Given the description of an element on the screen output the (x, y) to click on. 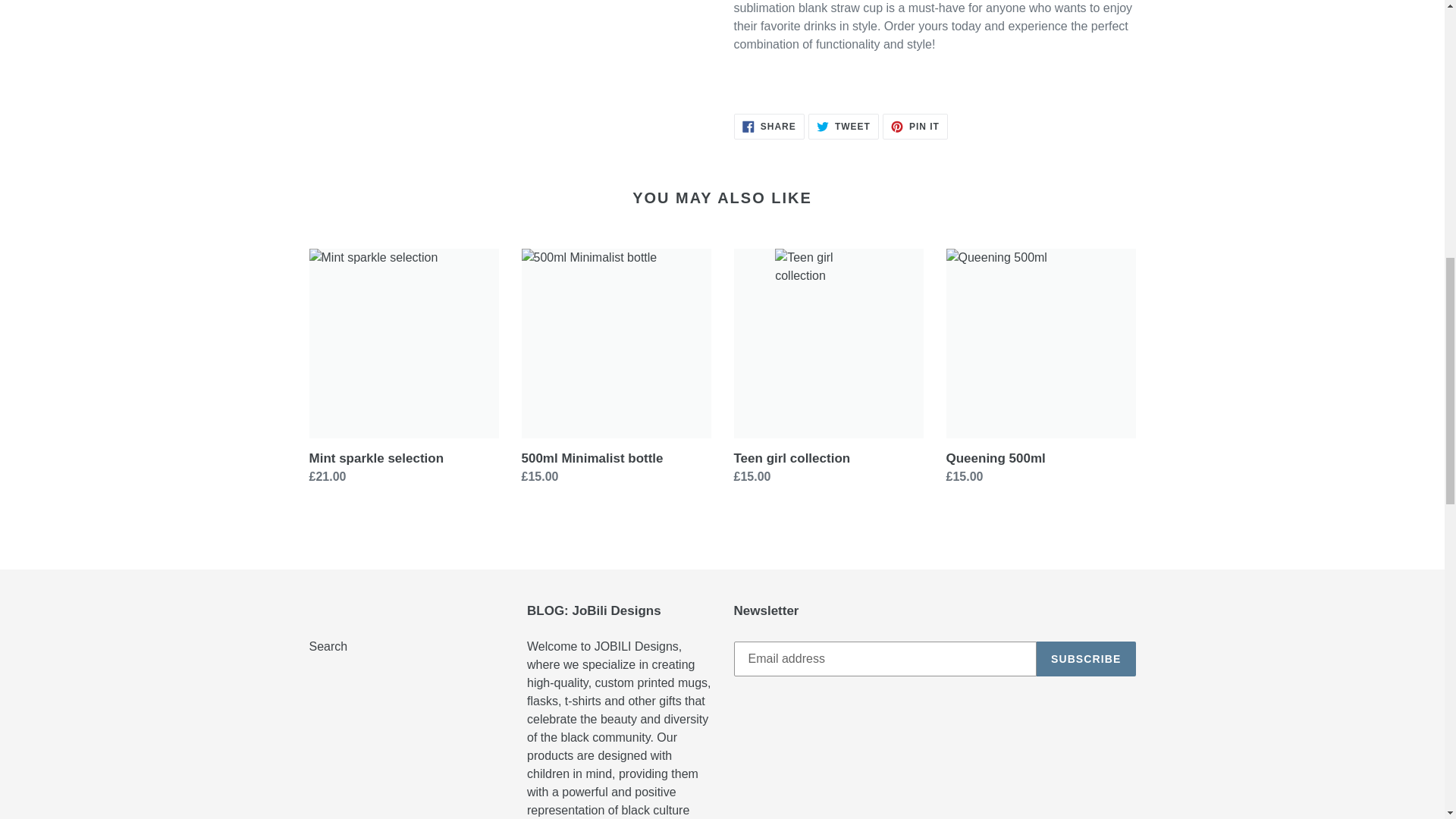
SUBSCRIBE (769, 126)
Search (1085, 658)
